Given the description of an element on the screen output the (x, y) to click on. 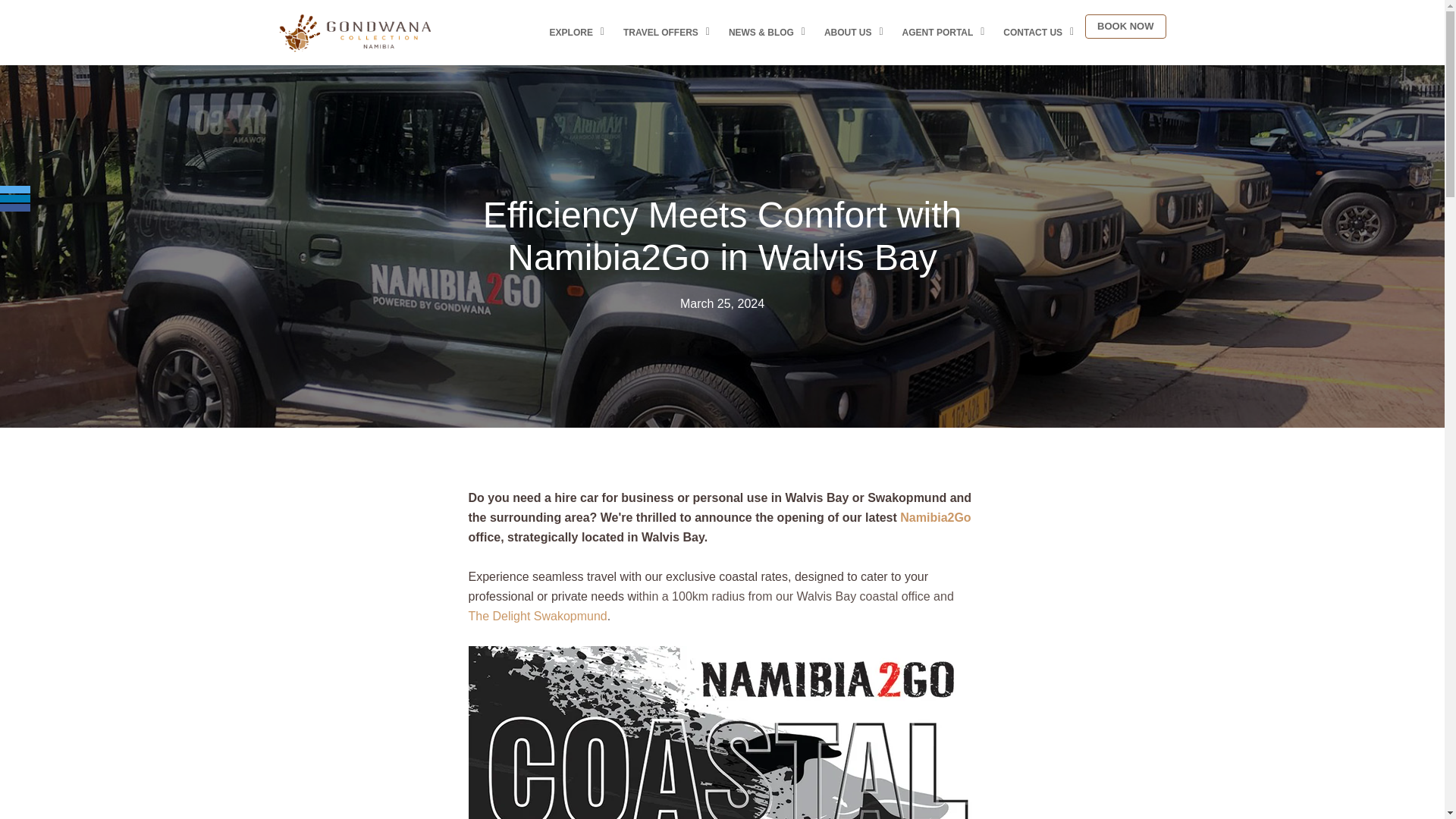
ABOUT US (855, 32)
Facebook (15, 207)
CONTACT US (1039, 32)
EXPLORE (578, 32)
TRAVEL OFFERS (667, 32)
Twitter (15, 189)
BOOK NOW (1125, 26)
AGENT PORTAL (945, 32)
Gondwana-Collection-Logo (354, 32)
Linkedin (15, 198)
